Given the description of an element on the screen output the (x, y) to click on. 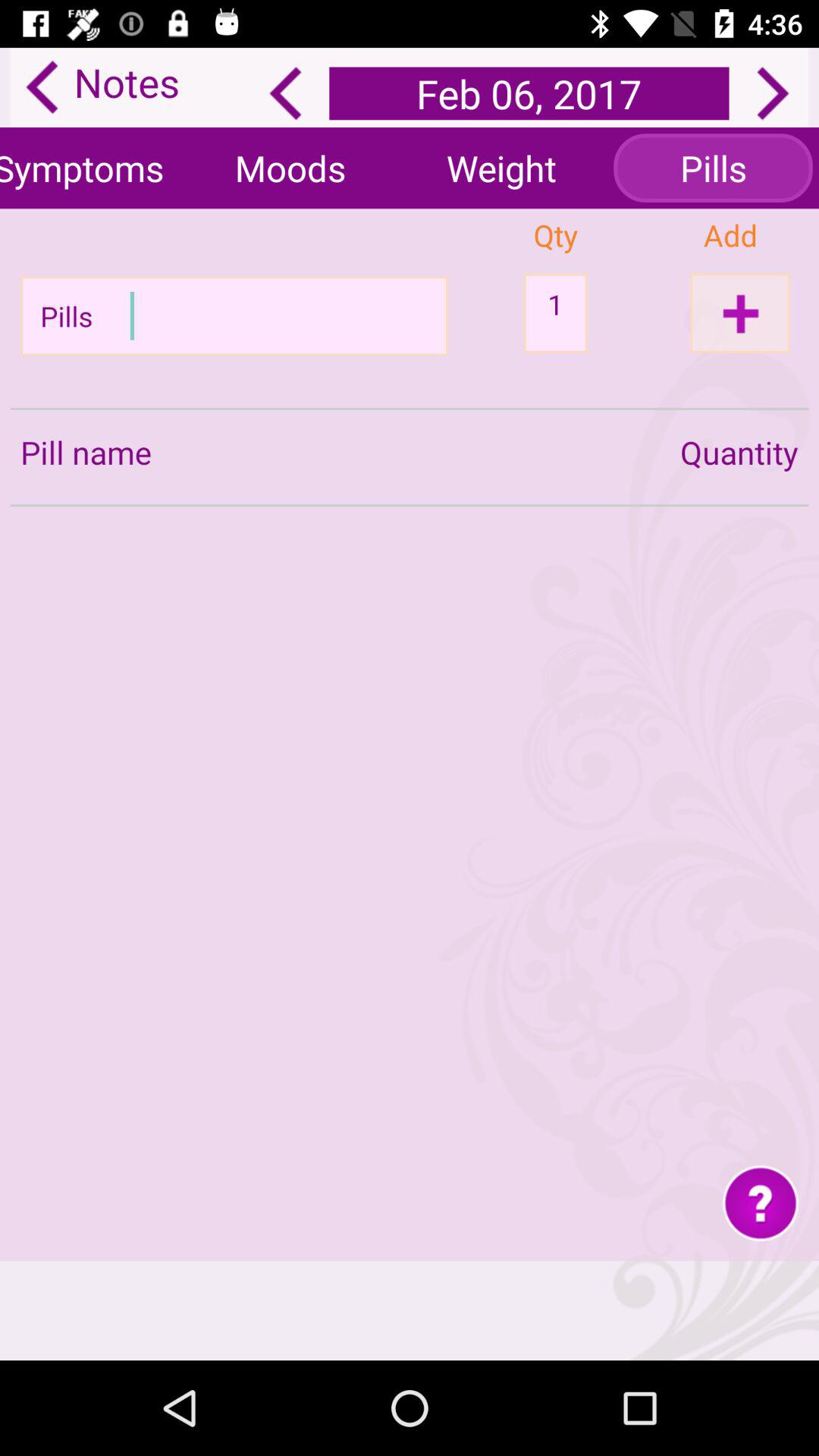
click to add option (739, 313)
